Given the description of an element on the screen output the (x, y) to click on. 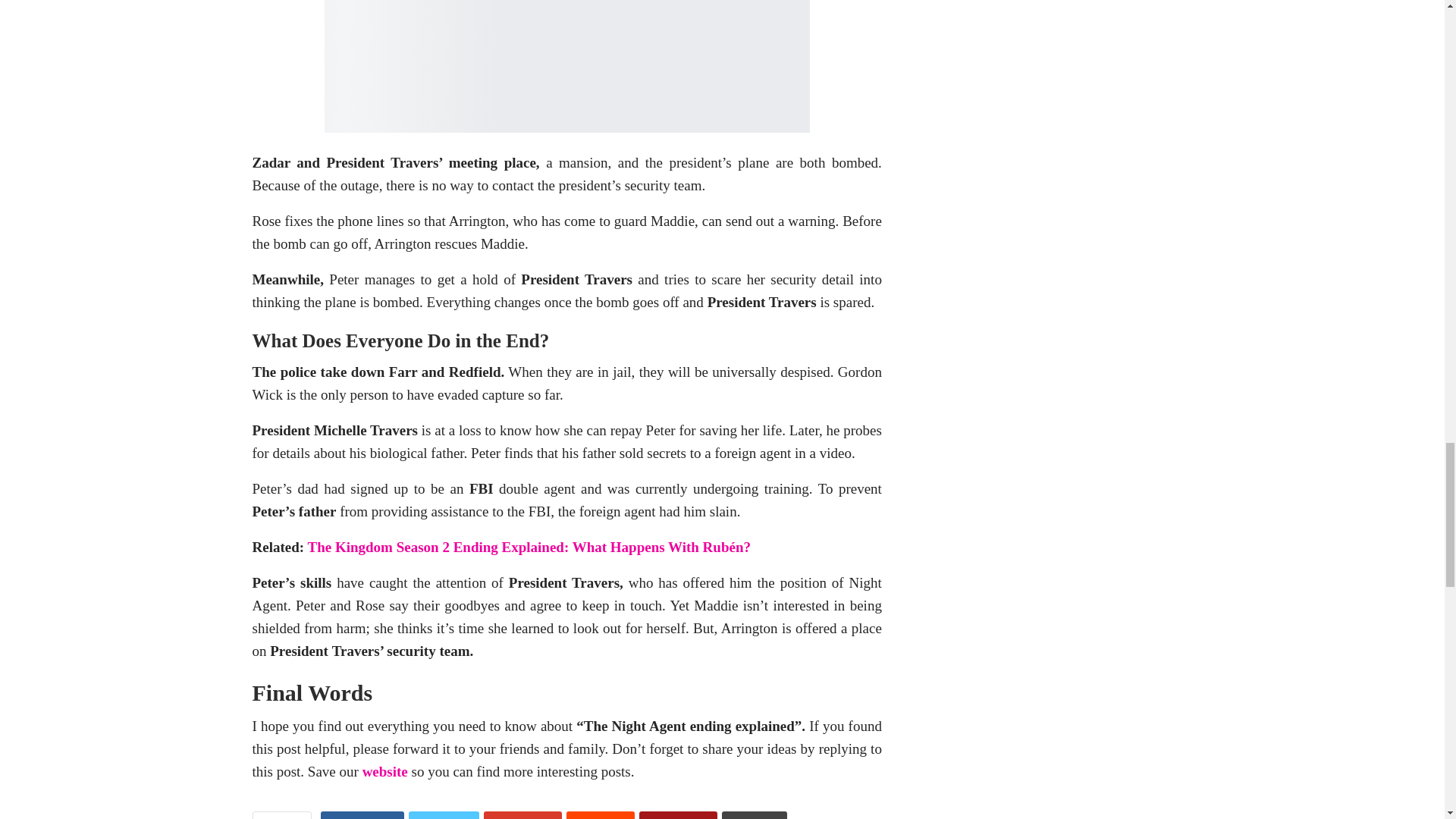
Facebook (361, 815)
Twitter (444, 815)
website (384, 771)
